Given the description of an element on the screen output the (x, y) to click on. 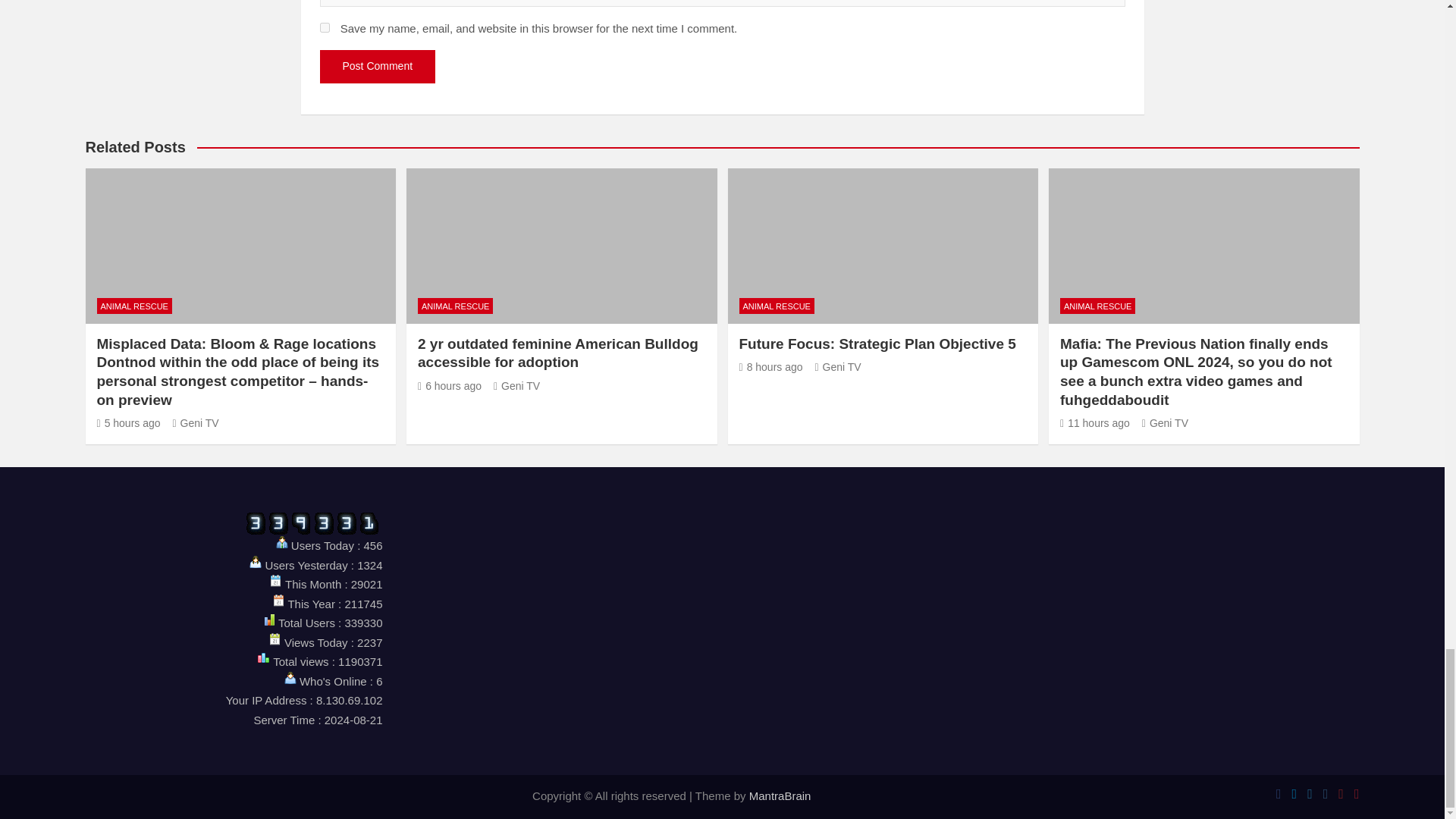
MantraBrain (779, 795)
Future Focus: Strategic Plan Objective 5 (770, 367)
yes (325, 27)
Post Comment (377, 66)
